Given the description of an element on the screen output the (x, y) to click on. 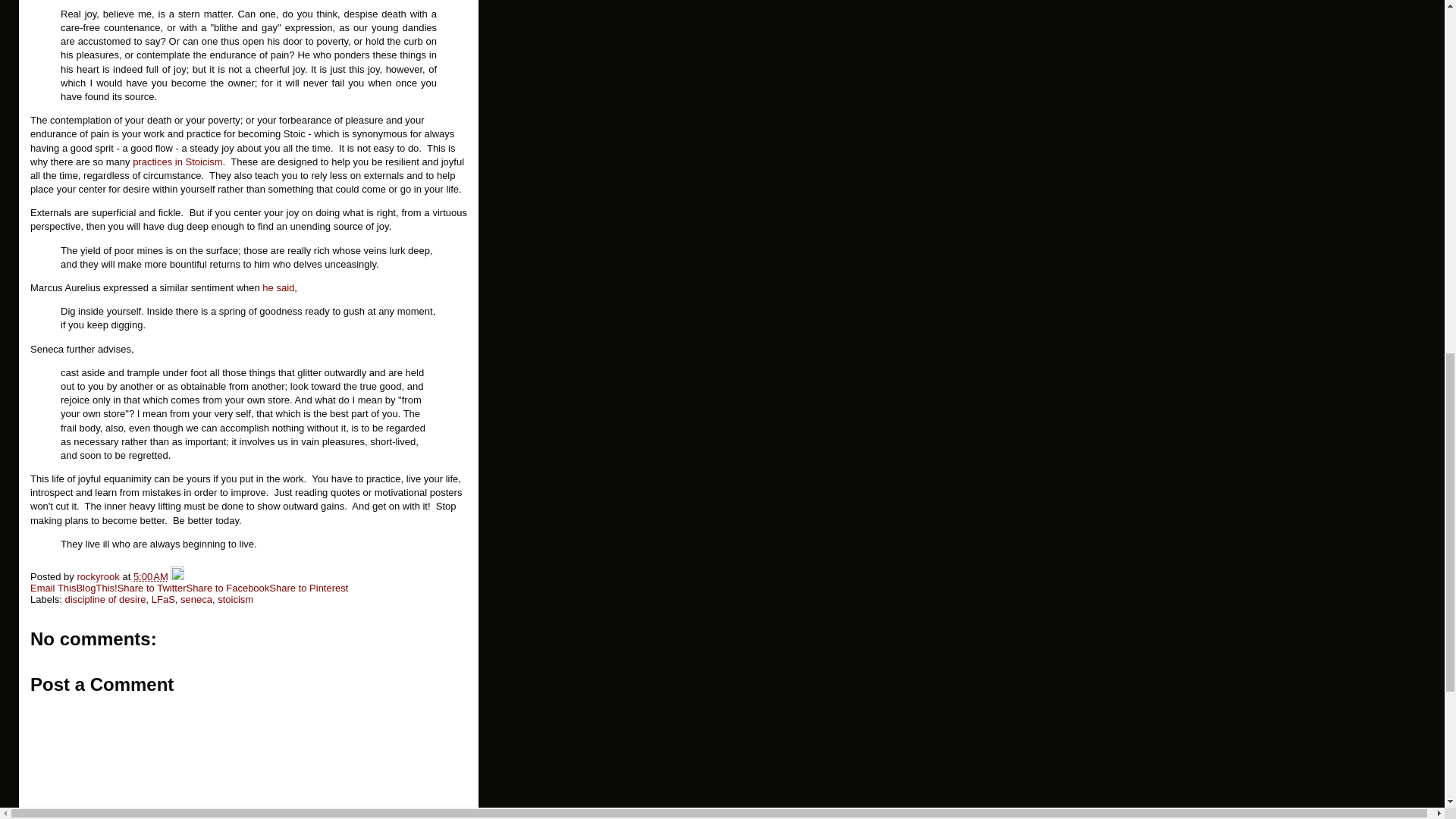
author profile (99, 576)
permanent link (150, 576)
discipline of desire (106, 599)
LFaS (162, 599)
Email This (52, 587)
Share to Twitter (151, 587)
Share to Pinterest (308, 587)
Share to Facebook (227, 587)
seneca (196, 599)
